Given the description of an element on the screen output the (x, y) to click on. 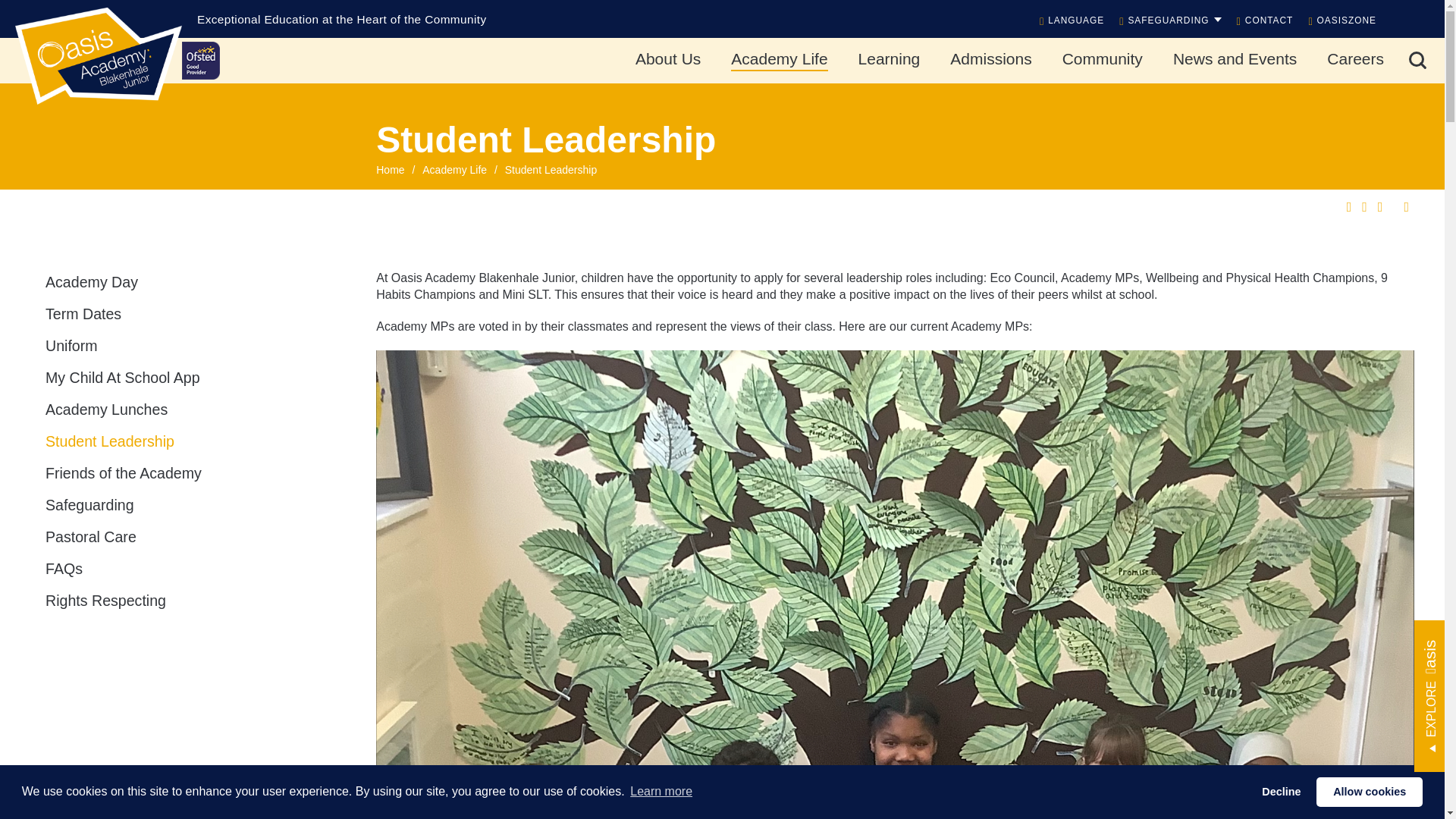
Decline (1281, 791)
Learn more (660, 791)
Allow cookies (1369, 791)
